Given the description of an element on the screen output the (x, y) to click on. 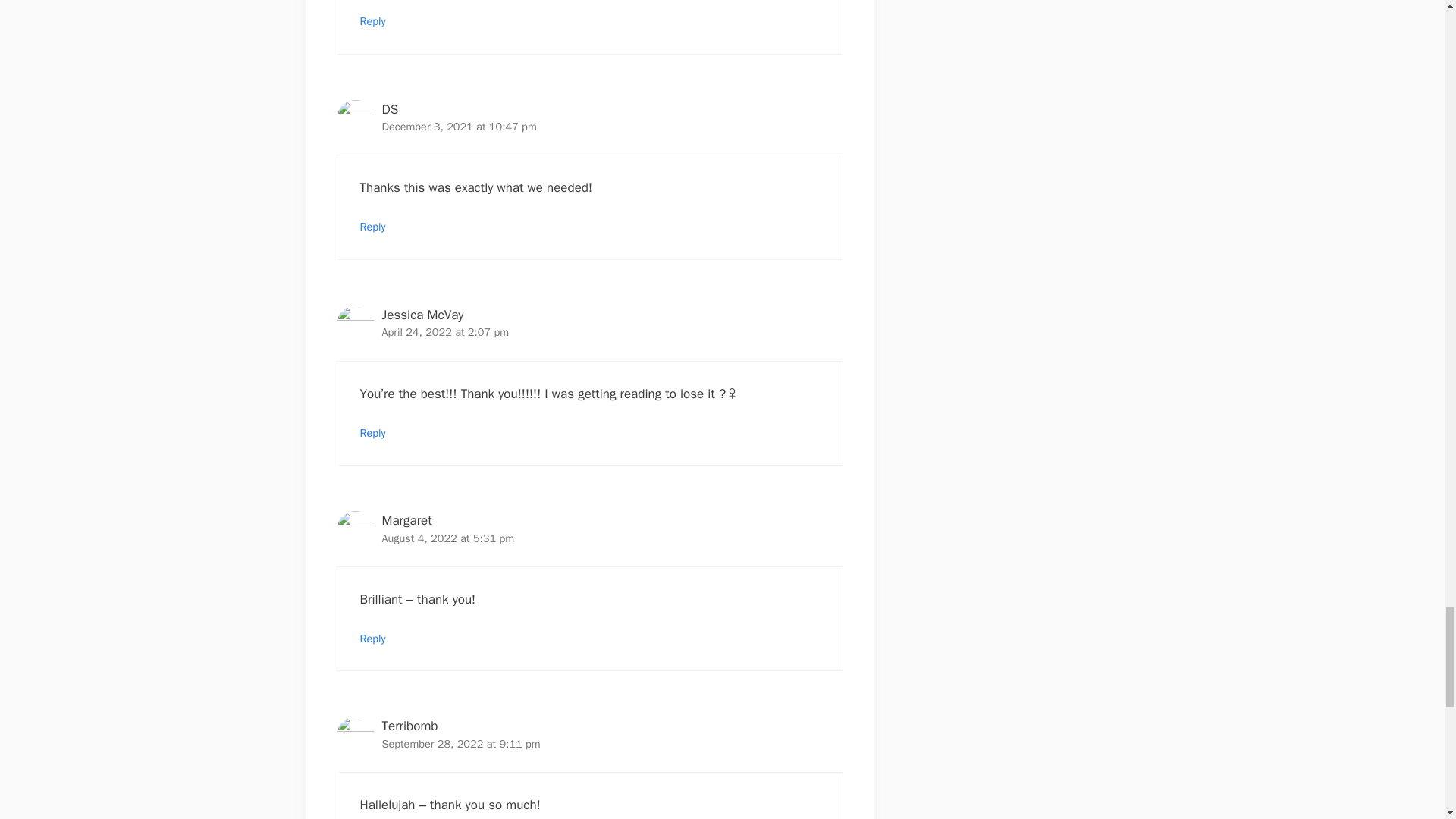
December 3, 2021 at 10:47 pm (459, 126)
Reply (372, 638)
August 4, 2022 at 5:31 pm (448, 538)
Reply (372, 226)
Reply (372, 432)
Reply (372, 20)
April 24, 2022 at 2:07 pm (445, 332)
September 28, 2022 at 9:11 pm (460, 744)
